Given the description of an element on the screen output the (x, y) to click on. 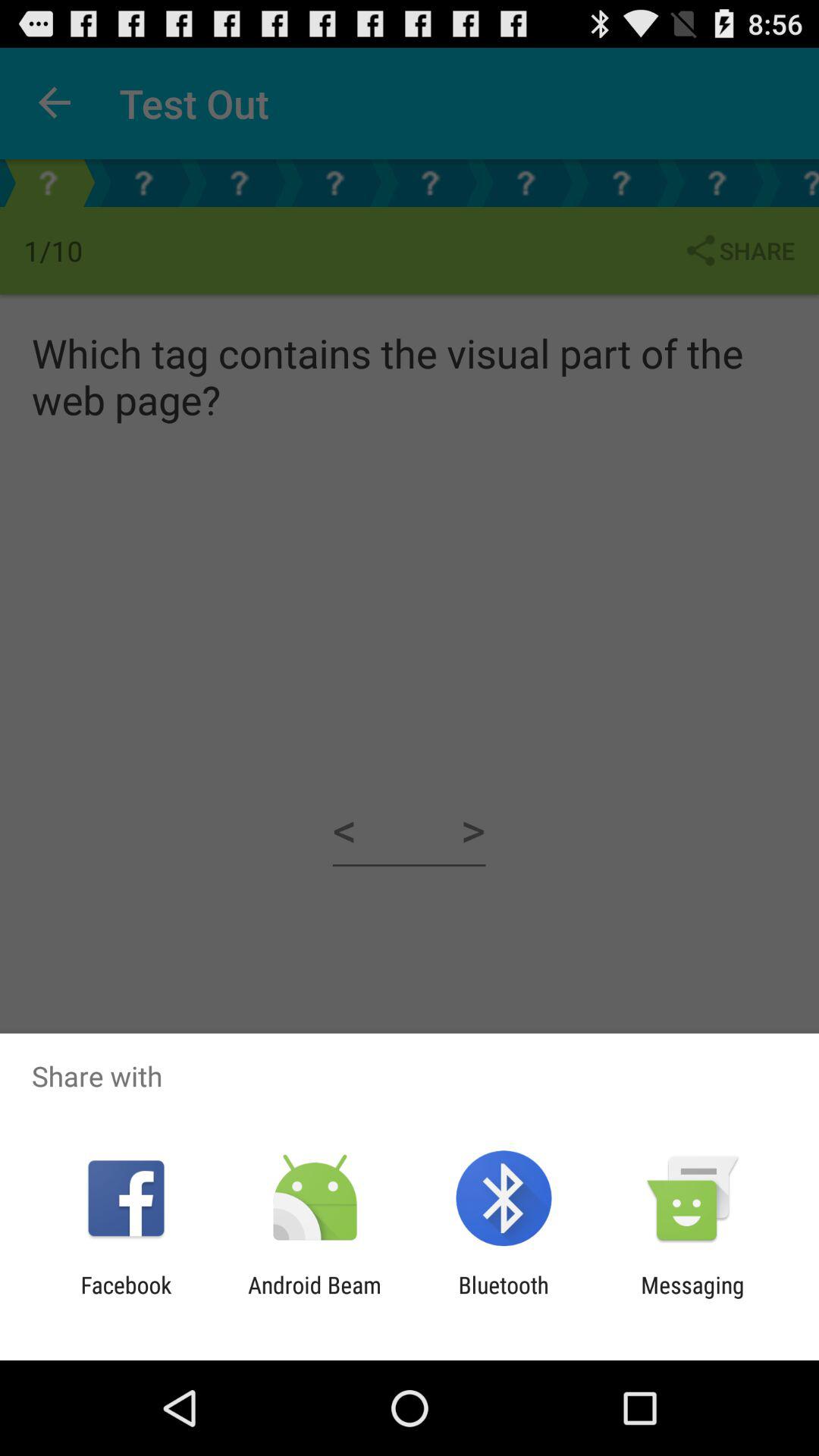
turn off the android beam item (314, 1298)
